Given the description of an element on the screen output the (x, y) to click on. 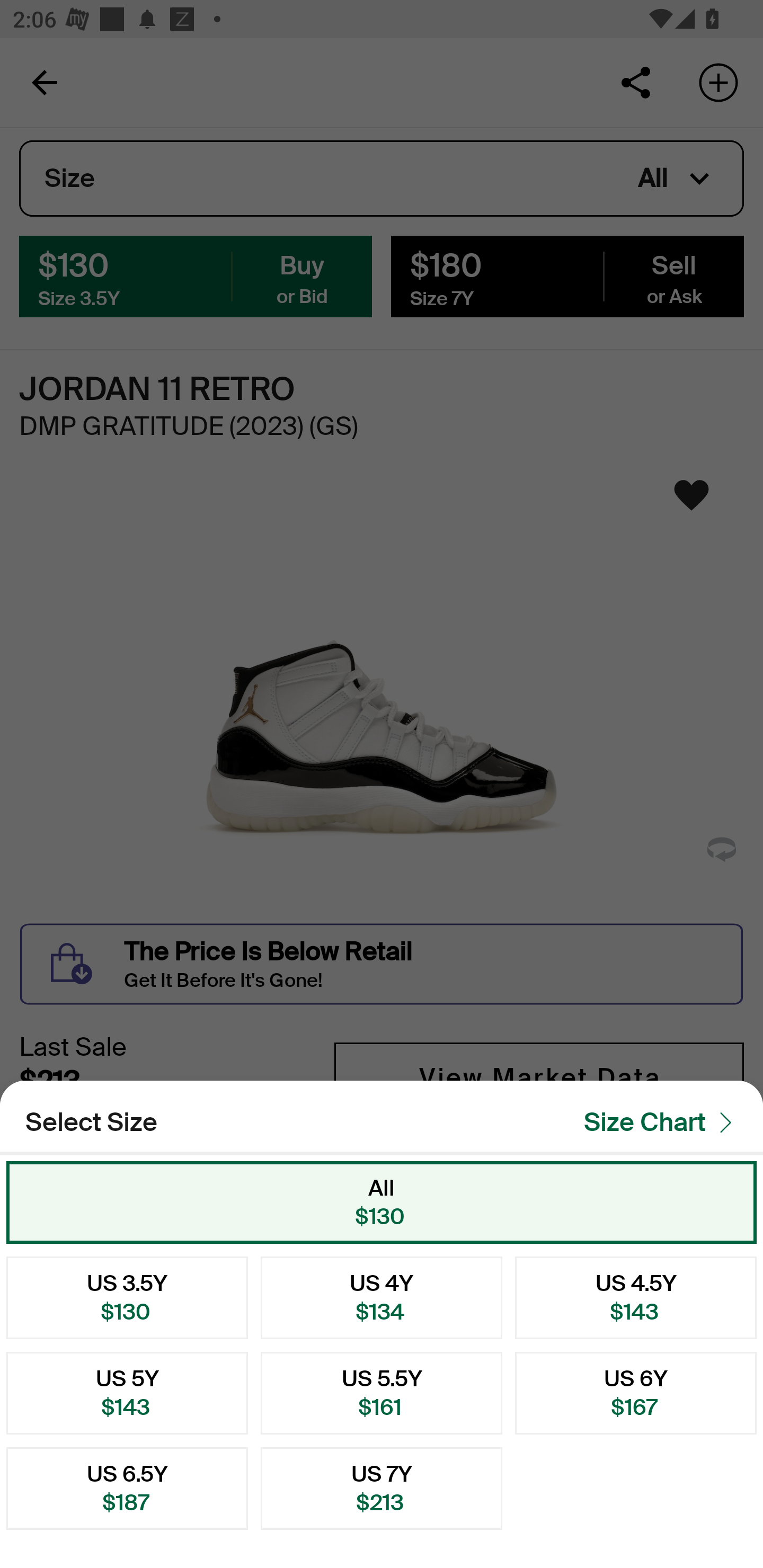
Size Chart (663, 1121)
All $130 (381, 1202)
US 3.5Y $130 (126, 1297)
US 4Y $134 (381, 1297)
US 4.5Y $143 (635, 1297)
US 5Y $143 (126, 1392)
US 5.5Y $161 (381, 1392)
US 6Y $167 (635, 1392)
US 6.5Y $187 (126, 1488)
US 7Y $213 (381, 1488)
